Given the description of an element on the screen output the (x, y) to click on. 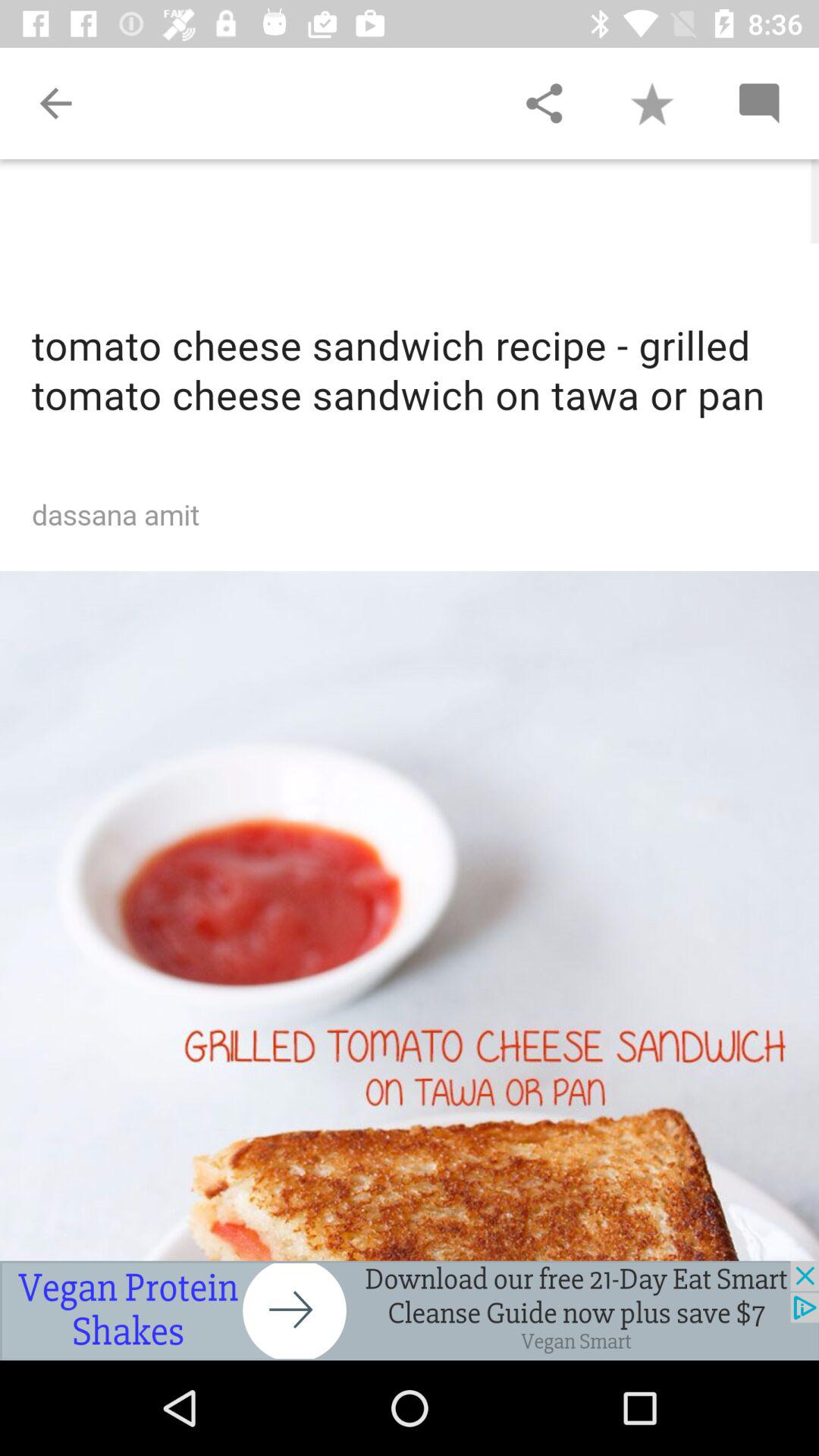
open chat (758, 103)
